Given the description of an element on the screen output the (x, y) to click on. 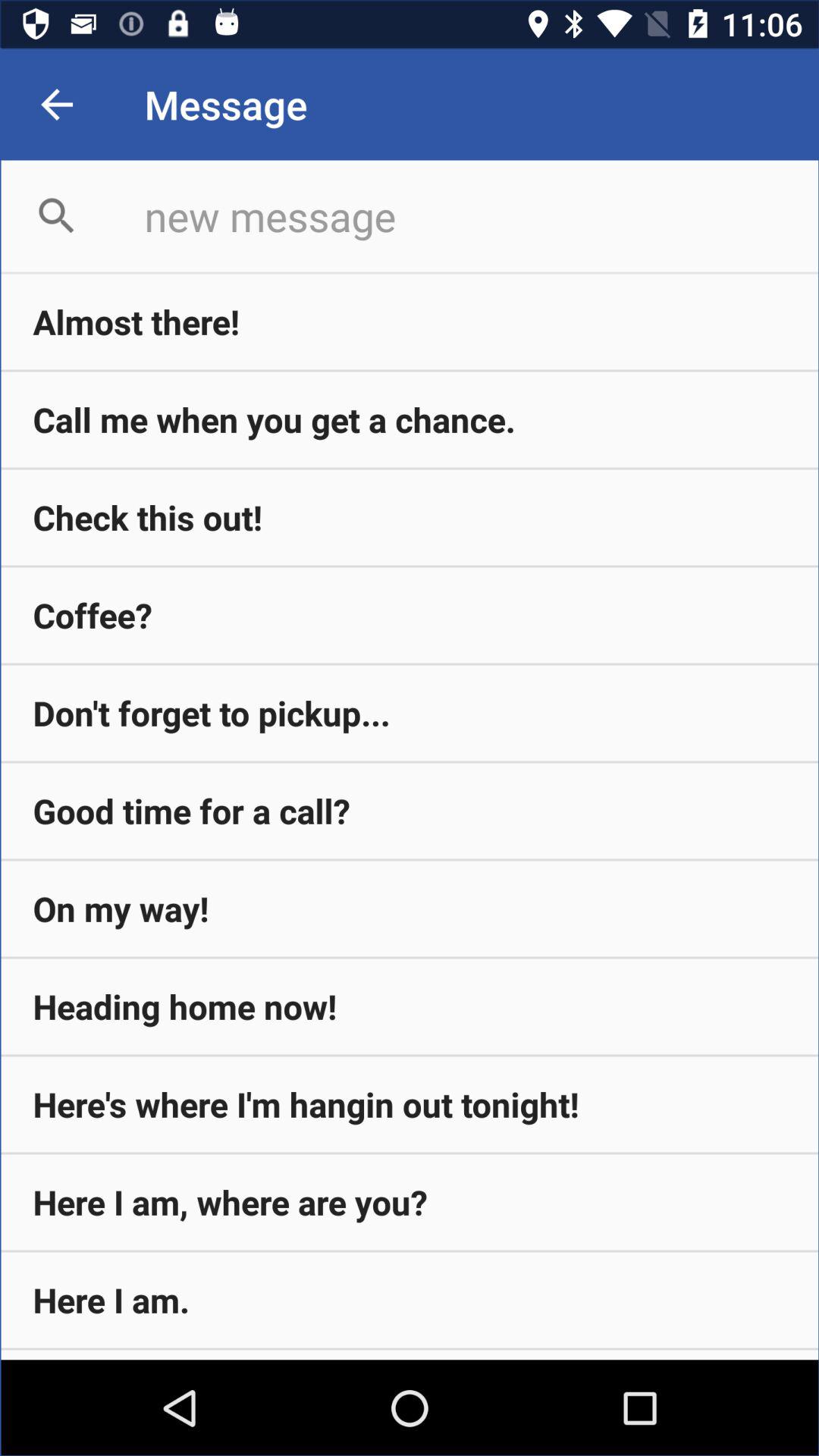
tap item below the on my way! icon (409, 1006)
